Given the description of an element on the screen output the (x, y) to click on. 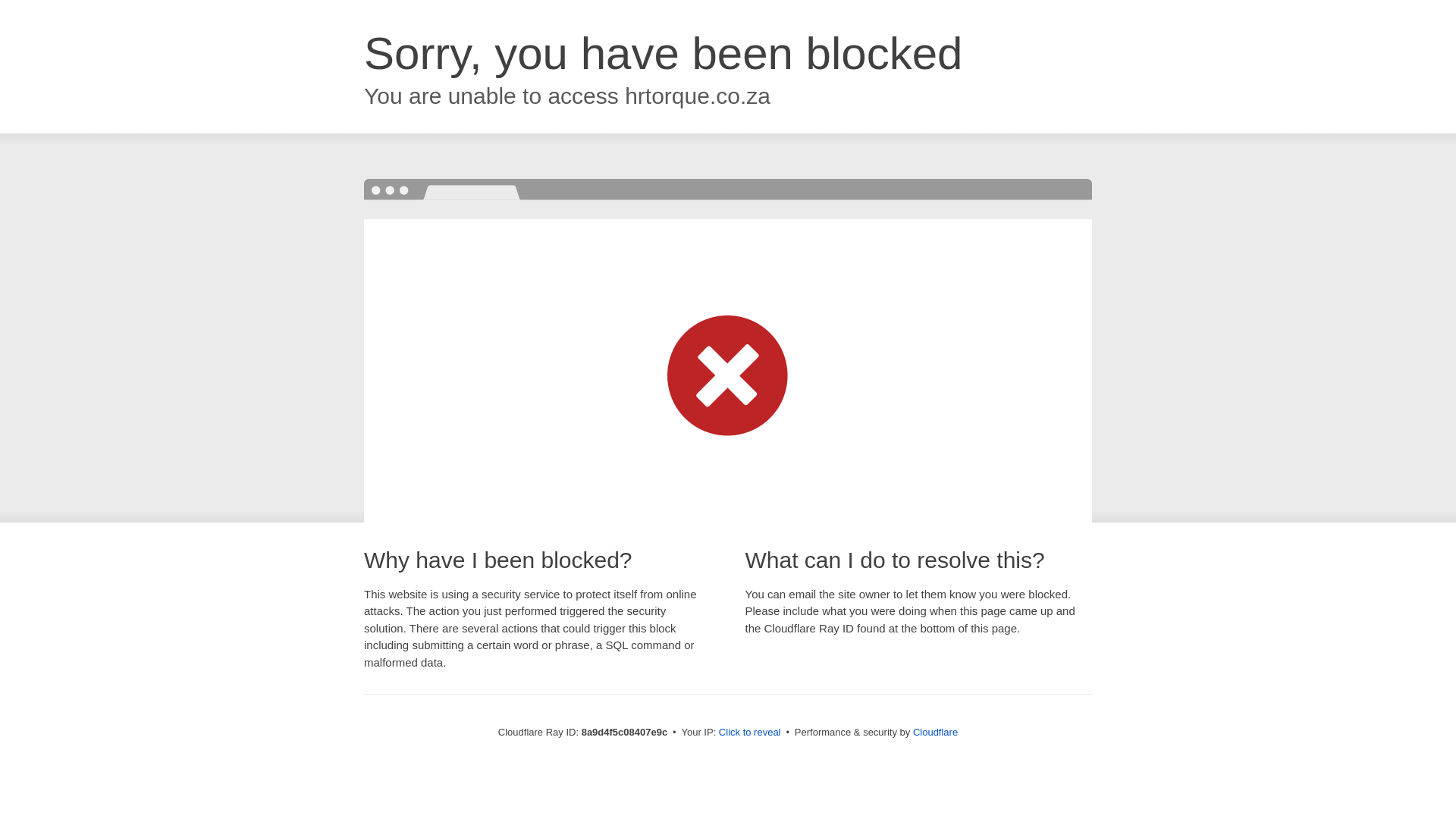
Click to reveal (749, 732)
Cloudflare (935, 731)
